Given the description of an element on the screen output the (x, y) to click on. 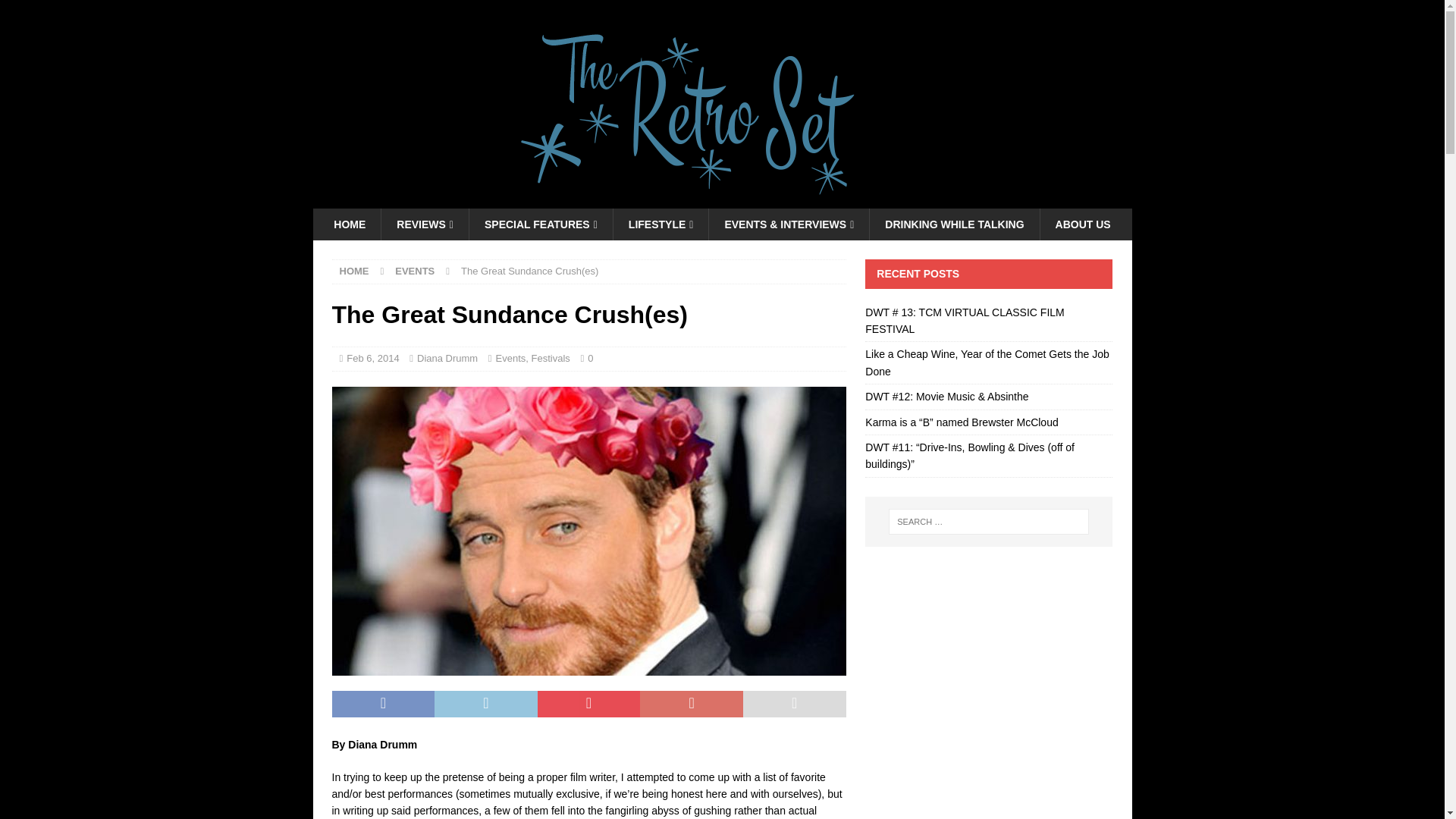
Feb 6, 2014 (372, 357)
HOME (354, 270)
REVIEWS (424, 224)
Diana Drumm (446, 357)
Festivals (550, 357)
EVENTS (413, 270)
HOME (349, 224)
LIFESTYLE (660, 224)
DRINKING WHILE TALKING (954, 224)
Events (510, 357)
